Given the description of an element on the screen output the (x, y) to click on. 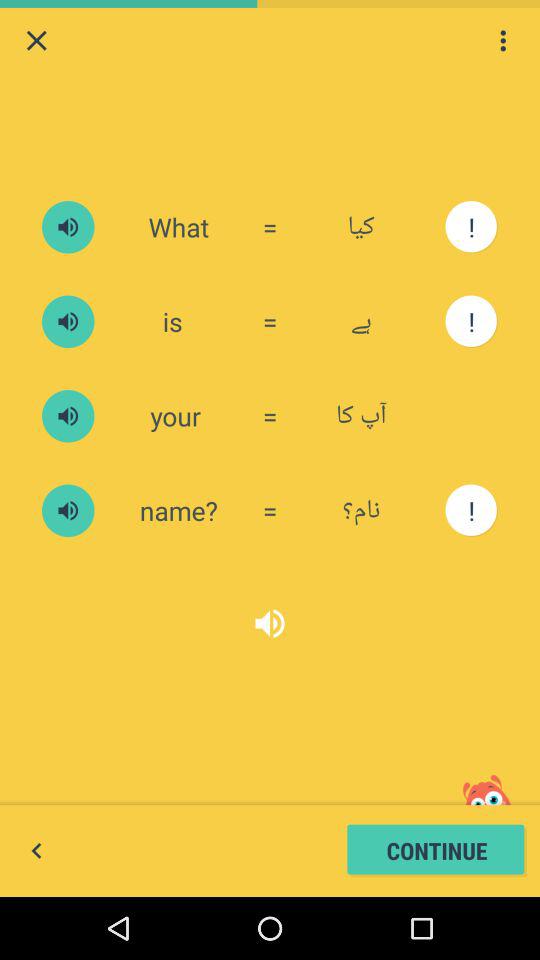
go to close (36, 40)
